Given the description of an element on the screen output the (x, y) to click on. 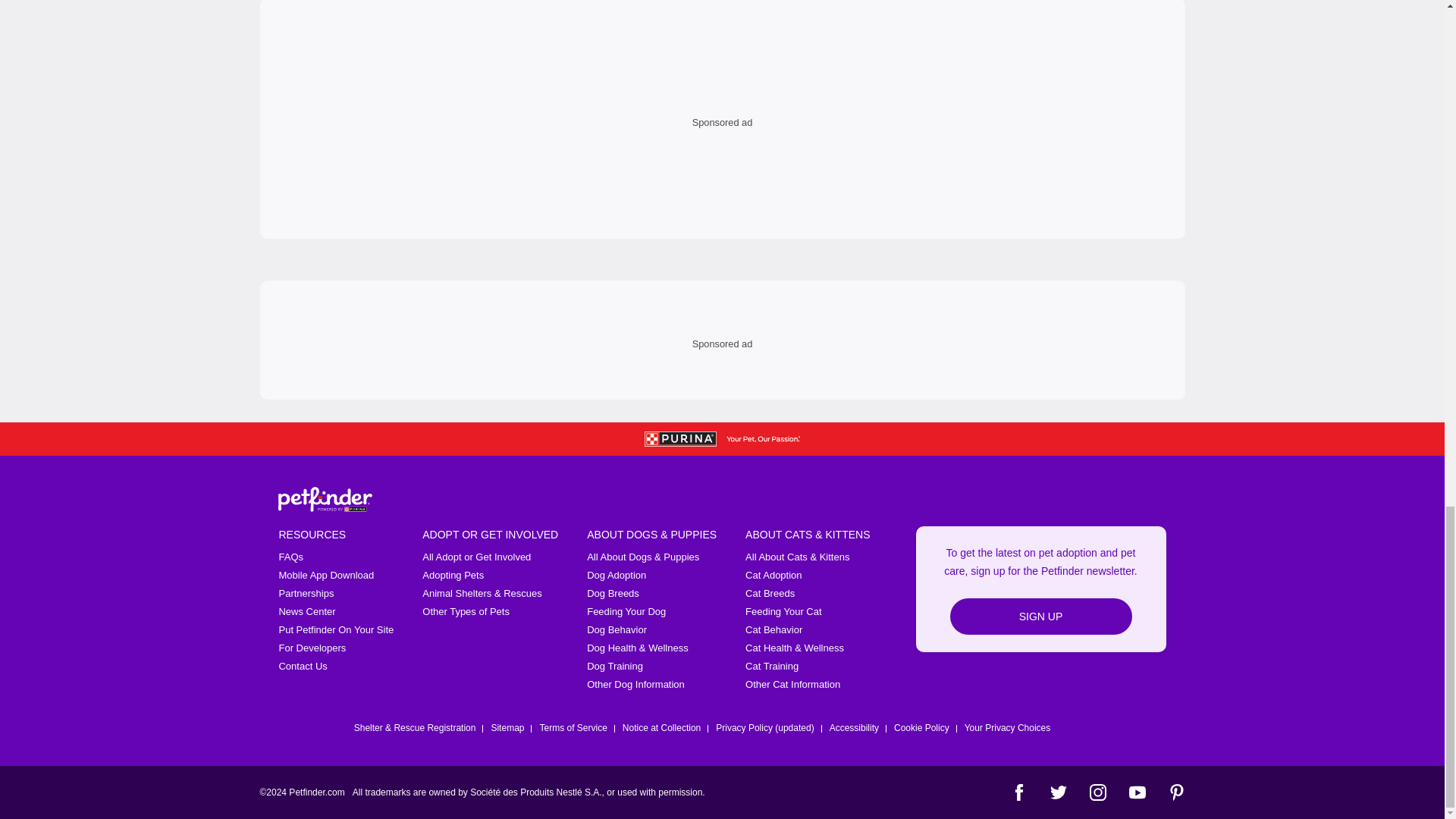
facebook (1018, 791)
Petfinder Logo (325, 499)
youtube (1136, 791)
twitter (1057, 791)
pinterest (1176, 791)
instagram (1097, 791)
